Given the description of an element on the screen output the (x, y) to click on. 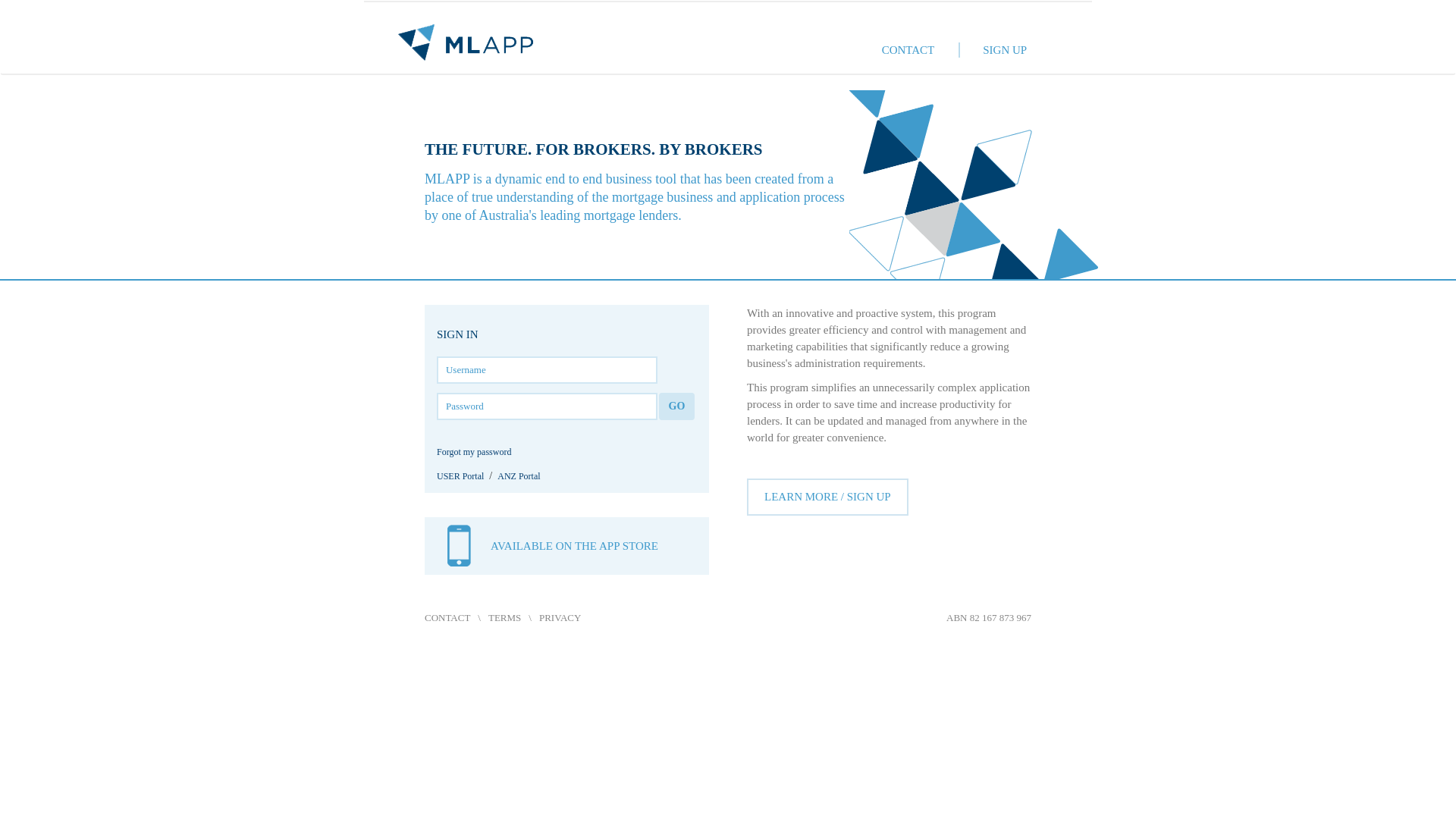
ABN 82 167 873 967 Element type: text (988, 618)
USER Portal Element type: text (459, 481)
LEARN MORE / SIGN UP Element type: text (827, 496)
TERMS Element type: text (504, 618)
\ Element type: text (479, 618)
\ Element type: text (529, 618)
AVAILABLE ON THE APP STORE Element type: text (576, 546)
ANZ Portal Element type: text (518, 481)
CONTACT Element type: text (915, 49)
go Element type: text (676, 406)
SIGN UP Element type: text (999, 49)
CONTACT Element type: text (447, 618)
Forgot my password Element type: text (473, 456)
PRIVACY Element type: text (559, 618)
